Given the description of an element on the screen output the (x, y) to click on. 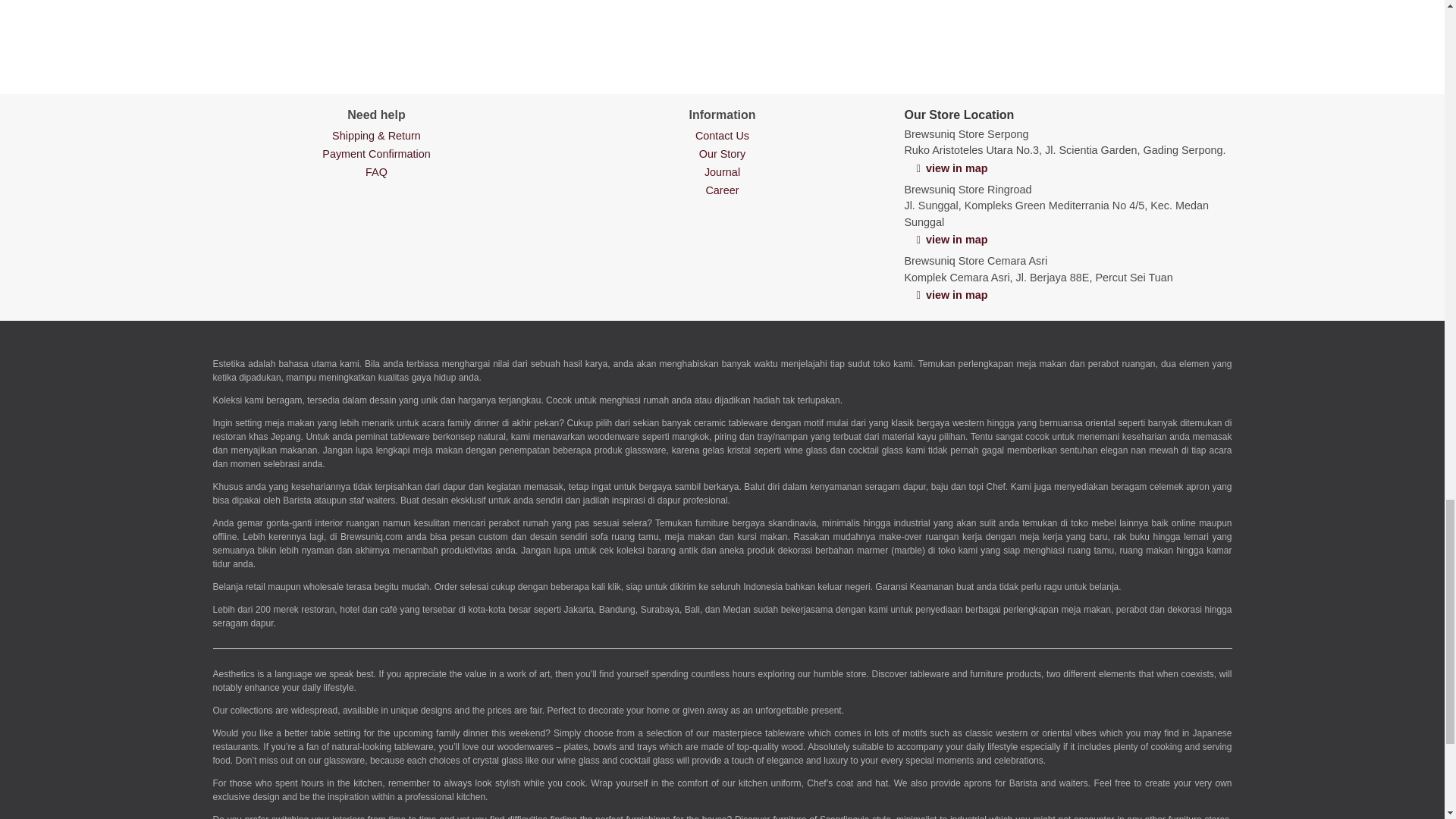
Contact Us (722, 135)
view in map (951, 168)
Career (721, 190)
FAQ (376, 172)
view in map (951, 239)
Payment Confirmation (375, 153)
Our Story (721, 153)
view in map (951, 295)
Journal (721, 172)
